Given the description of an element on the screen output the (x, y) to click on. 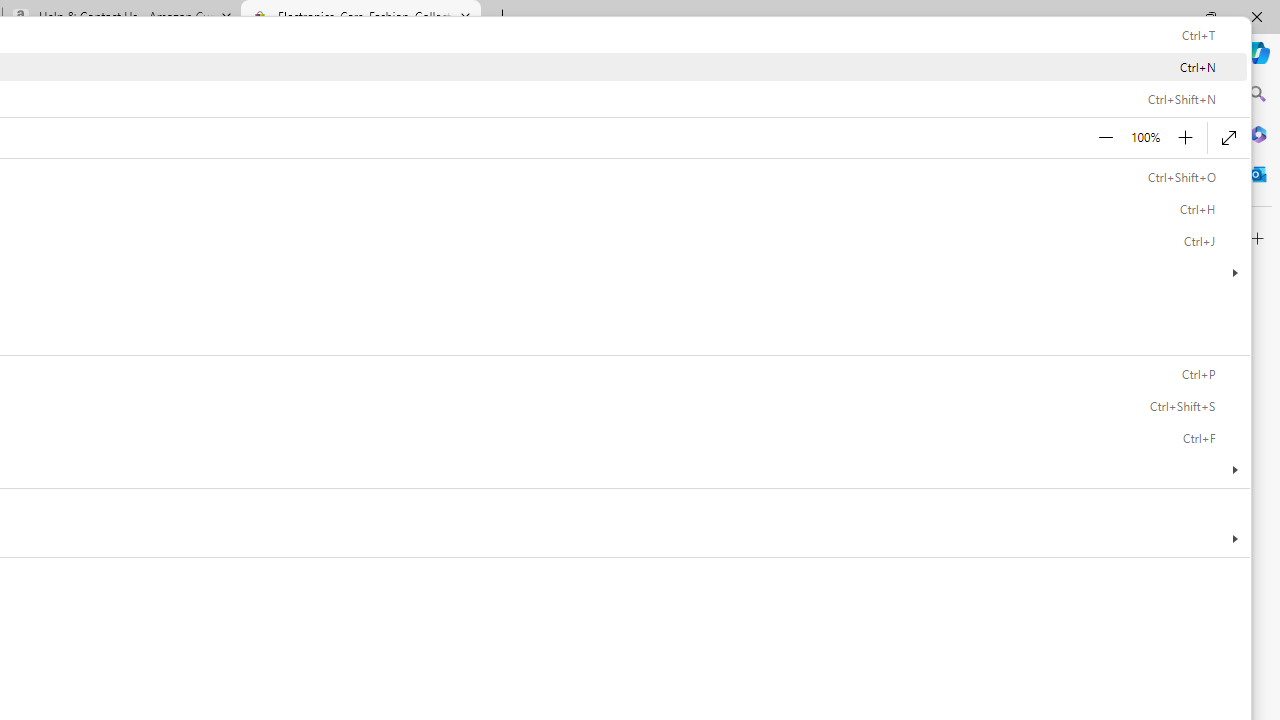
Electronics, Cars, Fashion, Collectibles & More | eBay (360, 17)
Home & Garden (310, 198)
Customize (1258, 239)
Watchlist (362, 86)
SellExpand: Sell (452, 199)
My eBay (453, 86)
